Given the description of an element on the screen output the (x, y) to click on. 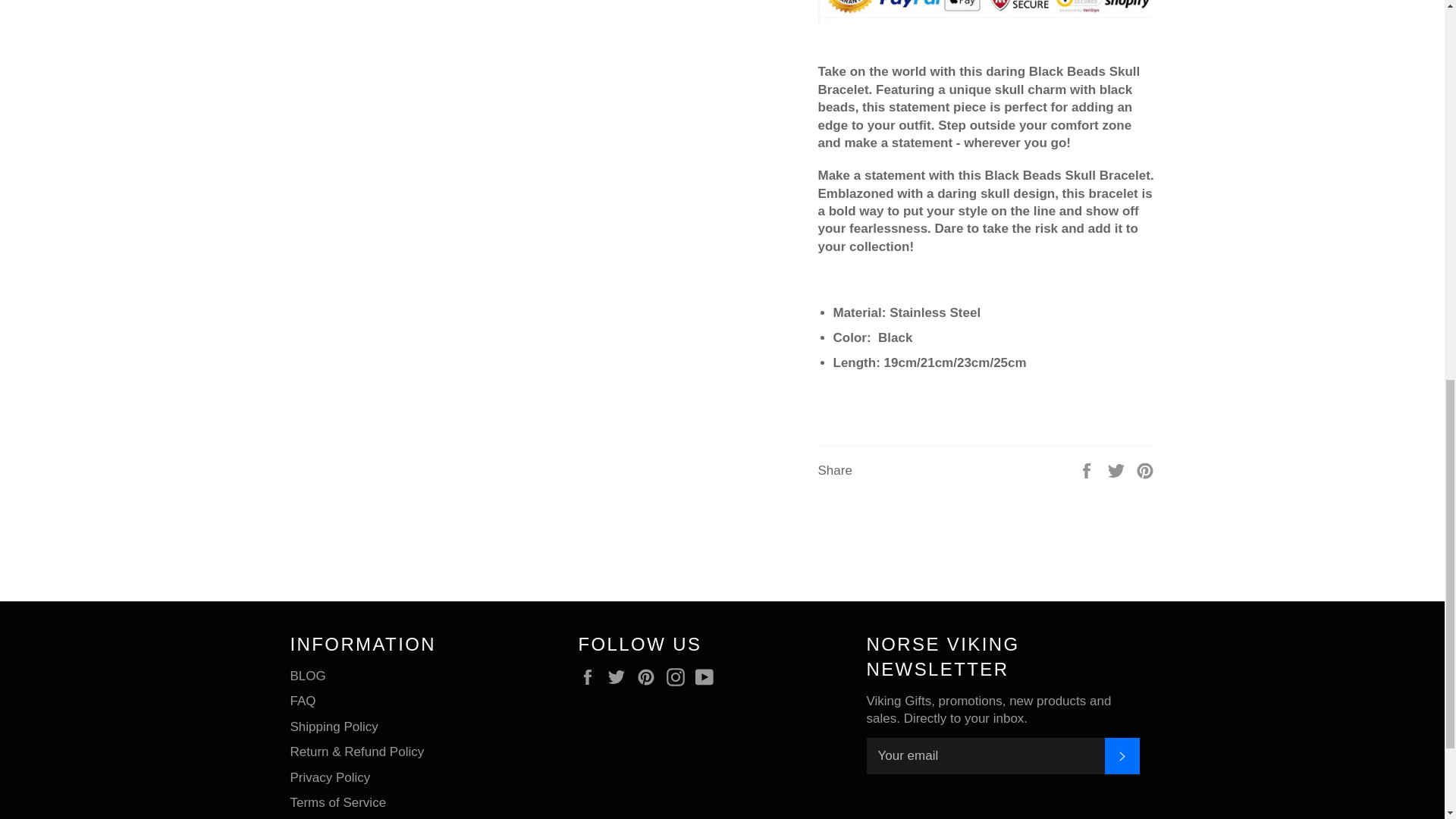
Viking Warriors on Twitter (620, 676)
Viking Warriors on YouTube (707, 676)
Share on Facebook (1088, 469)
Tweet on Twitter (1117, 469)
Viking Warriors on Instagram (679, 676)
Pin on Pinterest (1144, 469)
Viking Warriors on Pinterest (649, 676)
Viking Warriors on Facebook (591, 676)
